Given the description of an element on the screen output the (x, y) to click on. 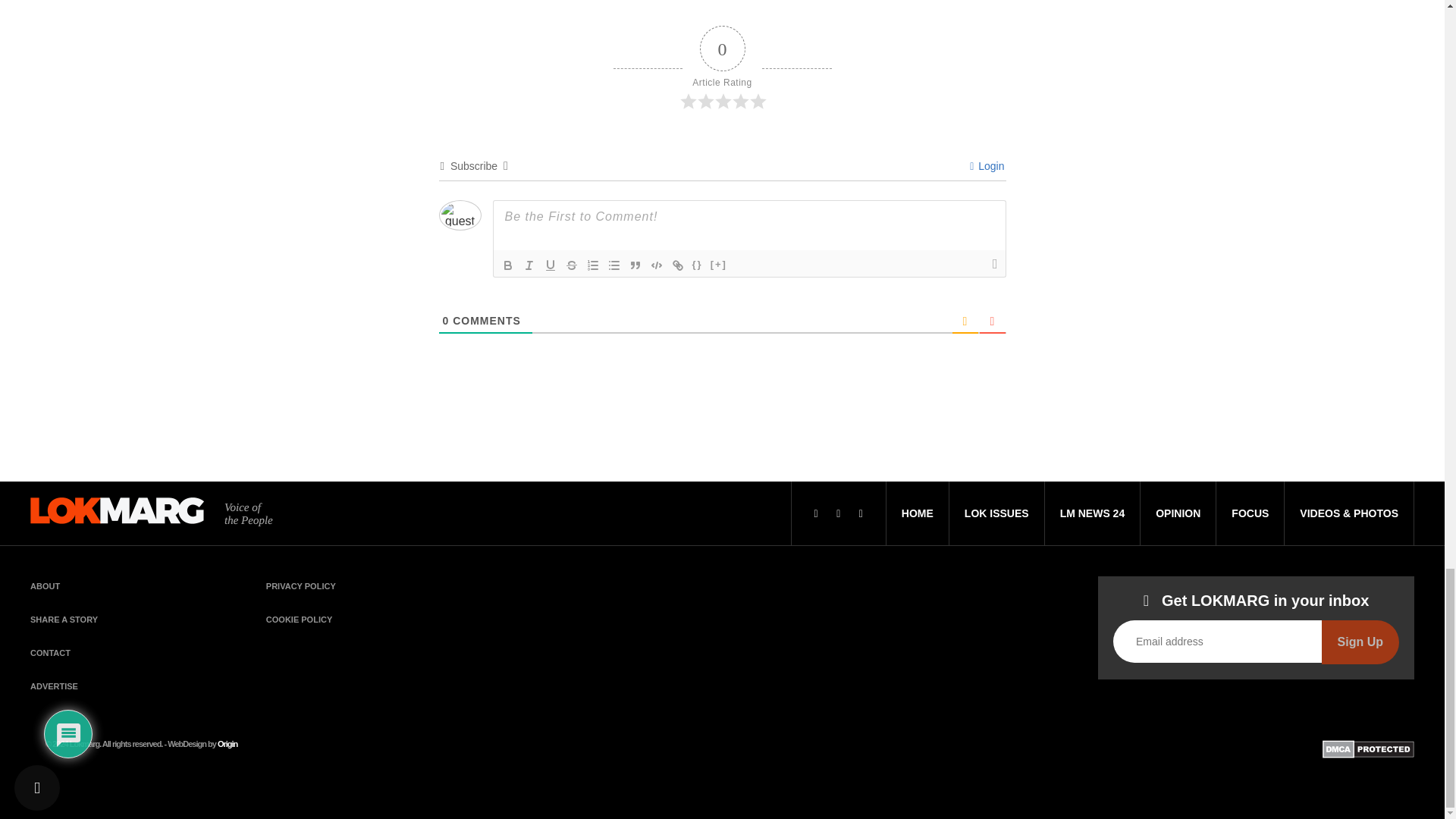
Login (986, 165)
Sign Up (1360, 641)
